Given the description of an element on the screen output the (x, y) to click on. 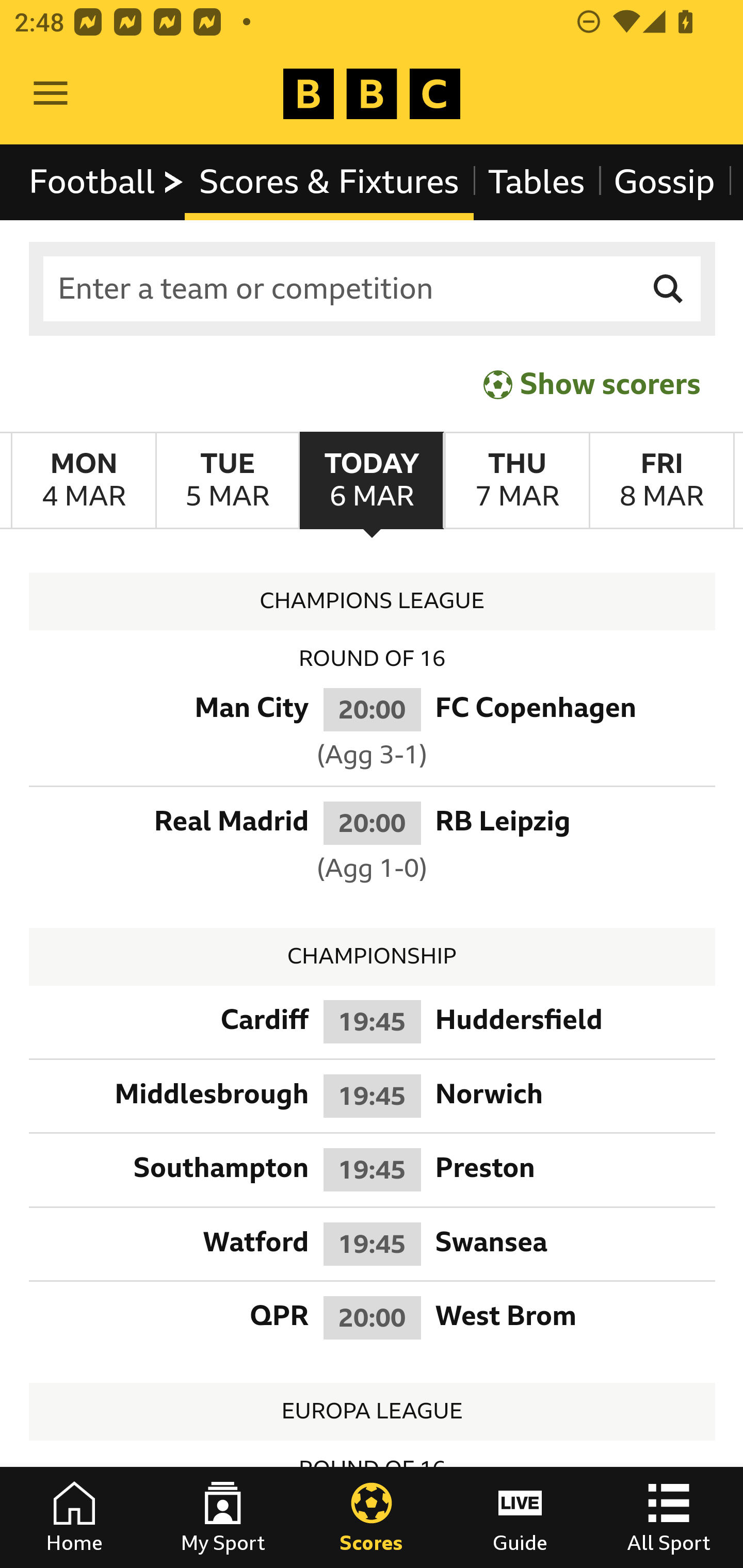
Open Menu (50, 93)
Football  (106, 181)
Scores & Fixtures (329, 181)
Tables (536, 181)
Gossip (664, 181)
Search (669, 289)
Show scorers (591, 383)
MondayMarch 4th Monday March 4th (83, 480)
TuesdayMarch 5th Tuesday March 5th (227, 480)
ThursdayMarch 7th Thursday March 7th (516, 480)
FridayMarch 8th Friday March 8th (661, 480)
Home (74, 1517)
My Sport (222, 1517)
Guide (519, 1517)
All Sport (668, 1517)
